Given the description of an element on the screen output the (x, y) to click on. 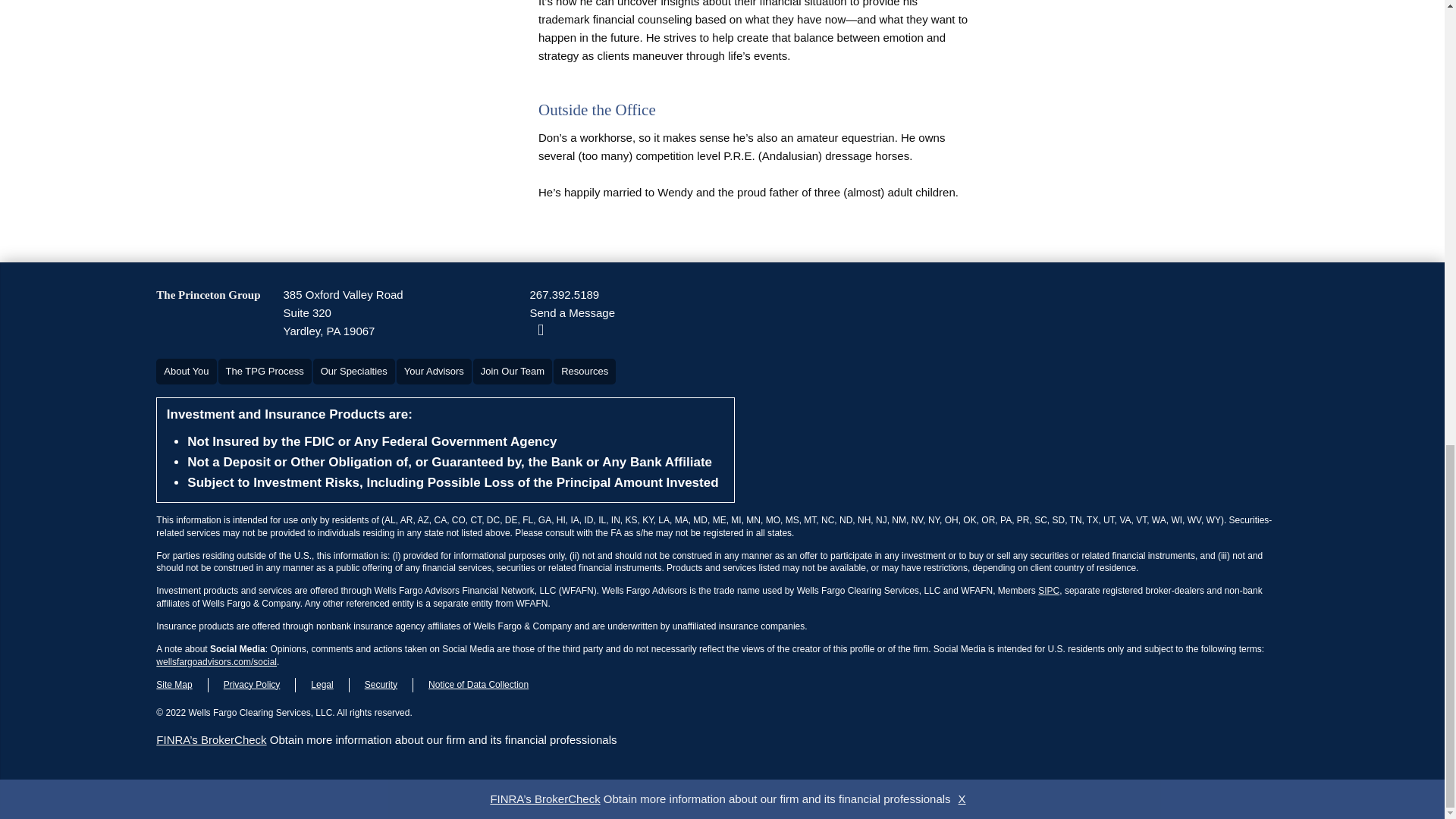
Send a Message (571, 312)
267.392.5189 (563, 294)
Your Advisors (433, 371)
The Princeton Group (207, 294)
Our Specialties (353, 371)
Resources (584, 371)
Join Our Team (512, 371)
About You (185, 371)
The TPG Process (264, 371)
